Given the description of an element on the screen output the (x, y) to click on. 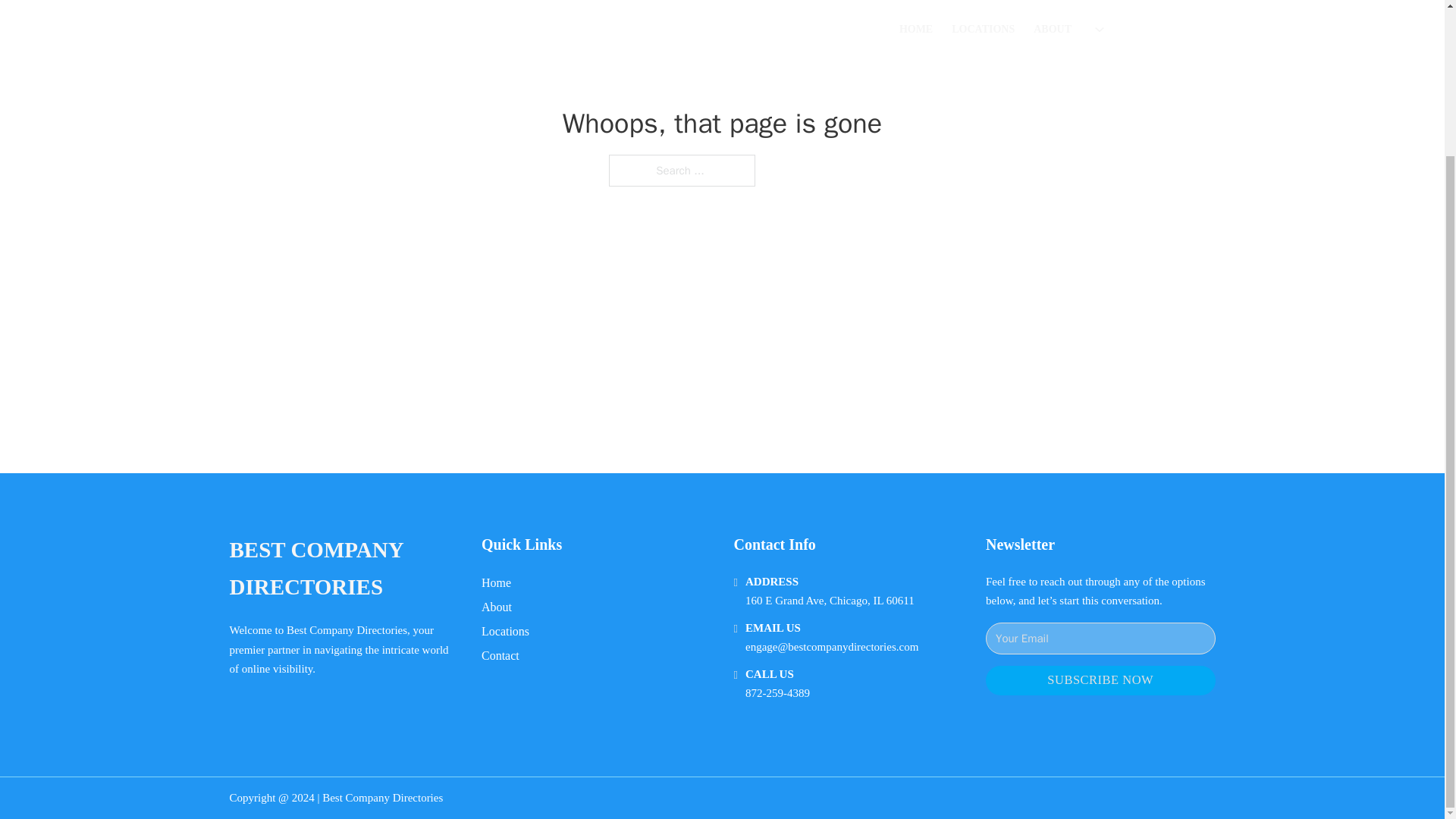
BEST COMPANY DIRECTORIES (343, 568)
Home (496, 582)
Contact (500, 655)
872-259-4389 (777, 693)
Locations (505, 630)
About (496, 607)
SUBSCRIBE NOW (1100, 680)
